Given the description of an element on the screen output the (x, y) to click on. 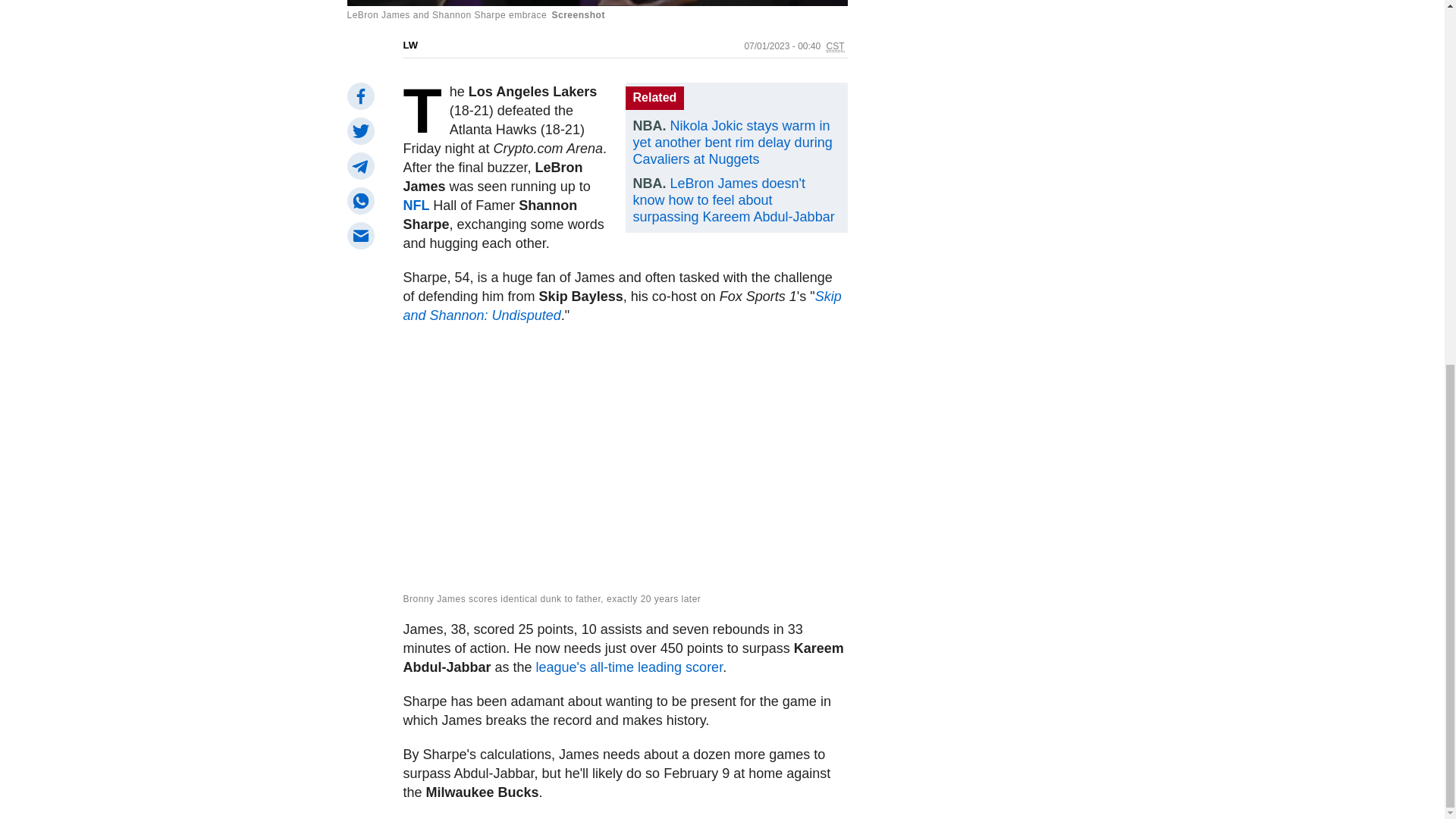
Central Standard Time (835, 46)
